Given the description of an element on the screen output the (x, y) to click on. 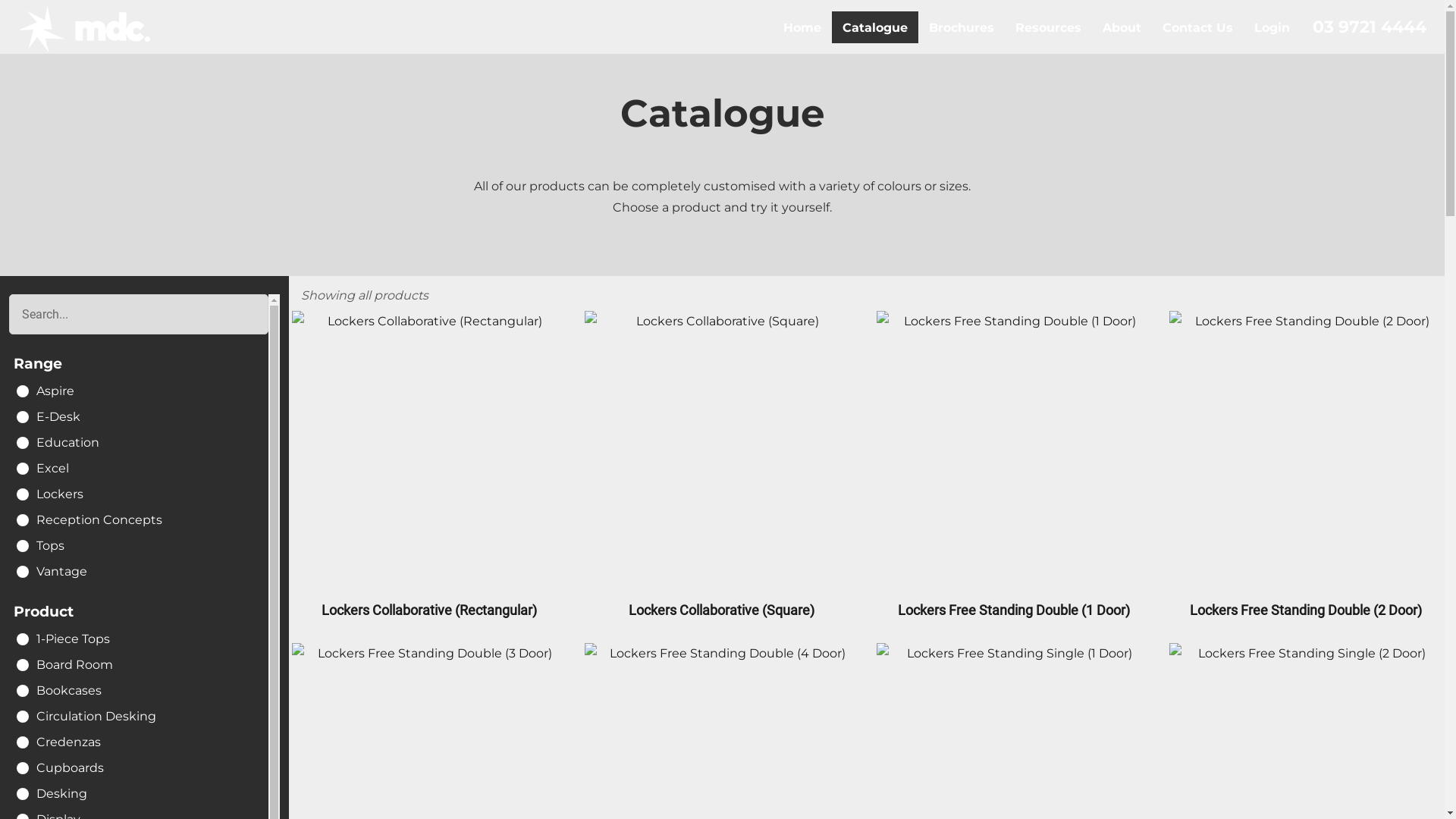
Brochures Element type: text (961, 27)
Contact Us Element type: text (1197, 27)
About Element type: text (1121, 27)
Resources Element type: text (1048, 27)
Catalogue Element type: text (874, 27)
Home Element type: text (801, 27)
Login Element type: text (1271, 27)
